Given the description of an element on the screen output the (x, y) to click on. 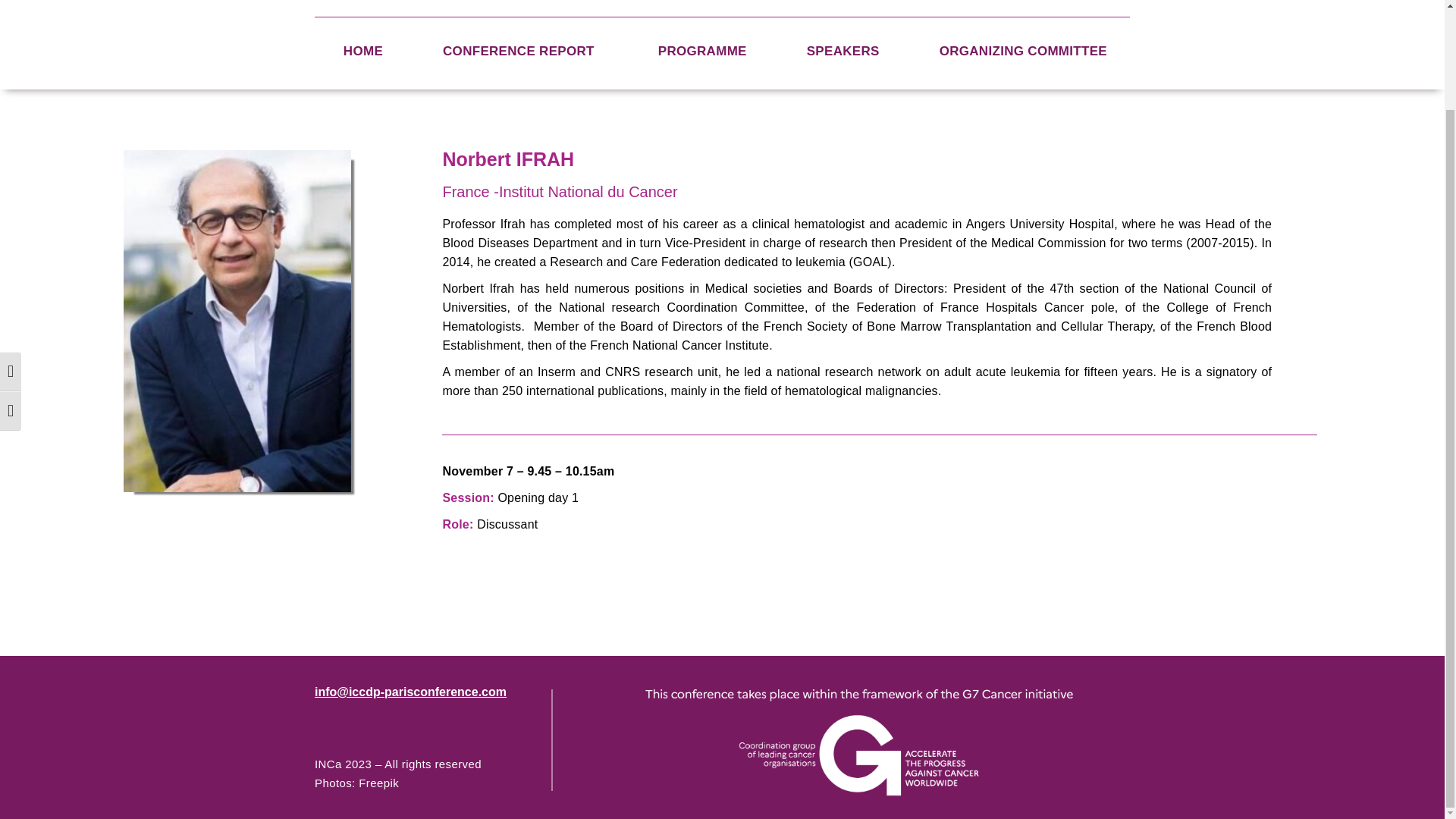
HOME (363, 51)
CONFERENCE REPORT  (520, 51)
SPEAKERS (843, 51)
ORGANIZING COMMITTEE (1023, 51)
PROGRAMME (702, 51)
